Given the description of an element on the screen output the (x, y) to click on. 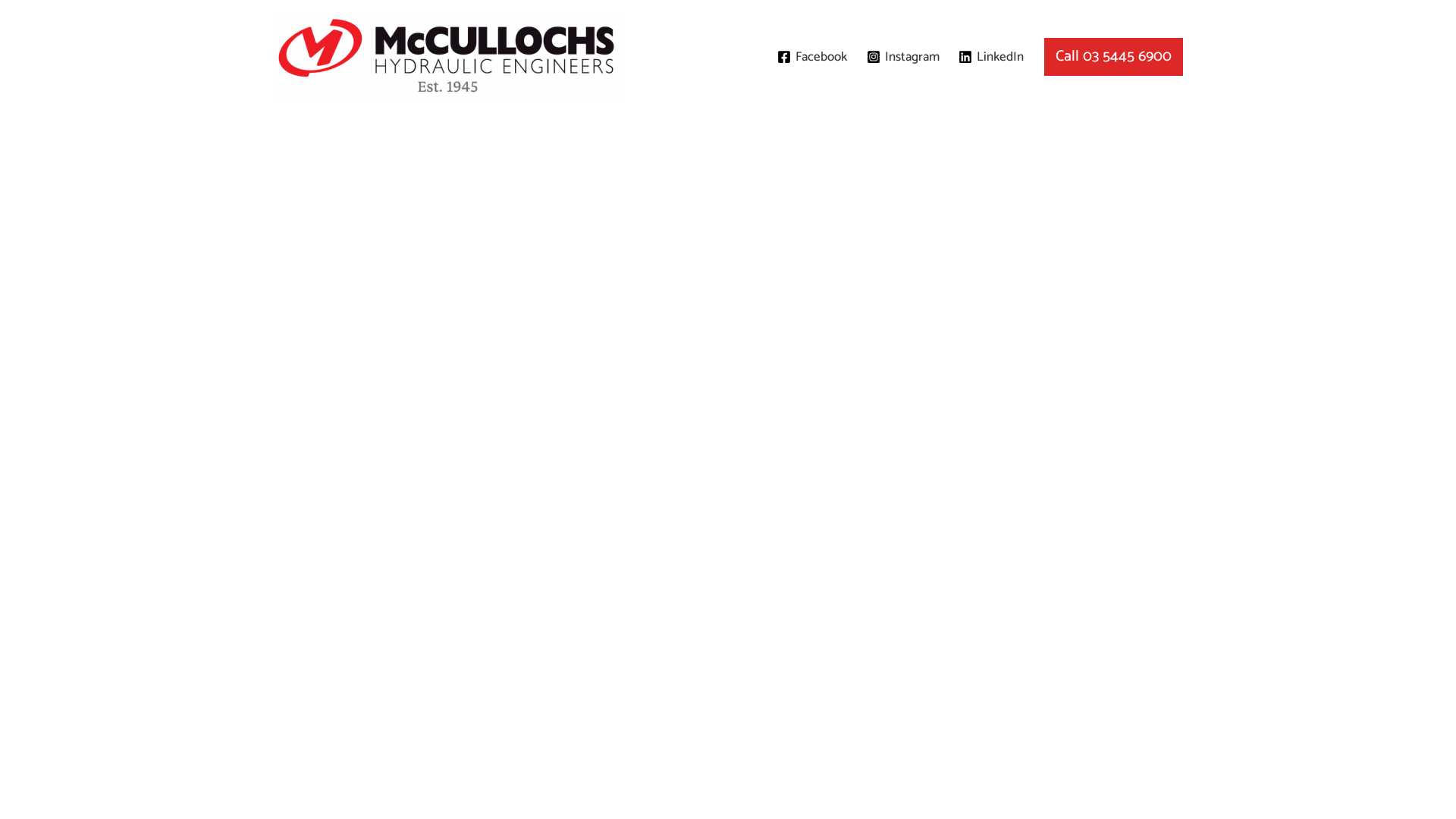
Facebook Element type: text (811, 56)
Instagram Element type: text (902, 56)
Call 03 5445 6900 Element type: text (1113, 56)
LinkedIn Element type: text (991, 56)
